Given the description of an element on the screen output the (x, y) to click on. 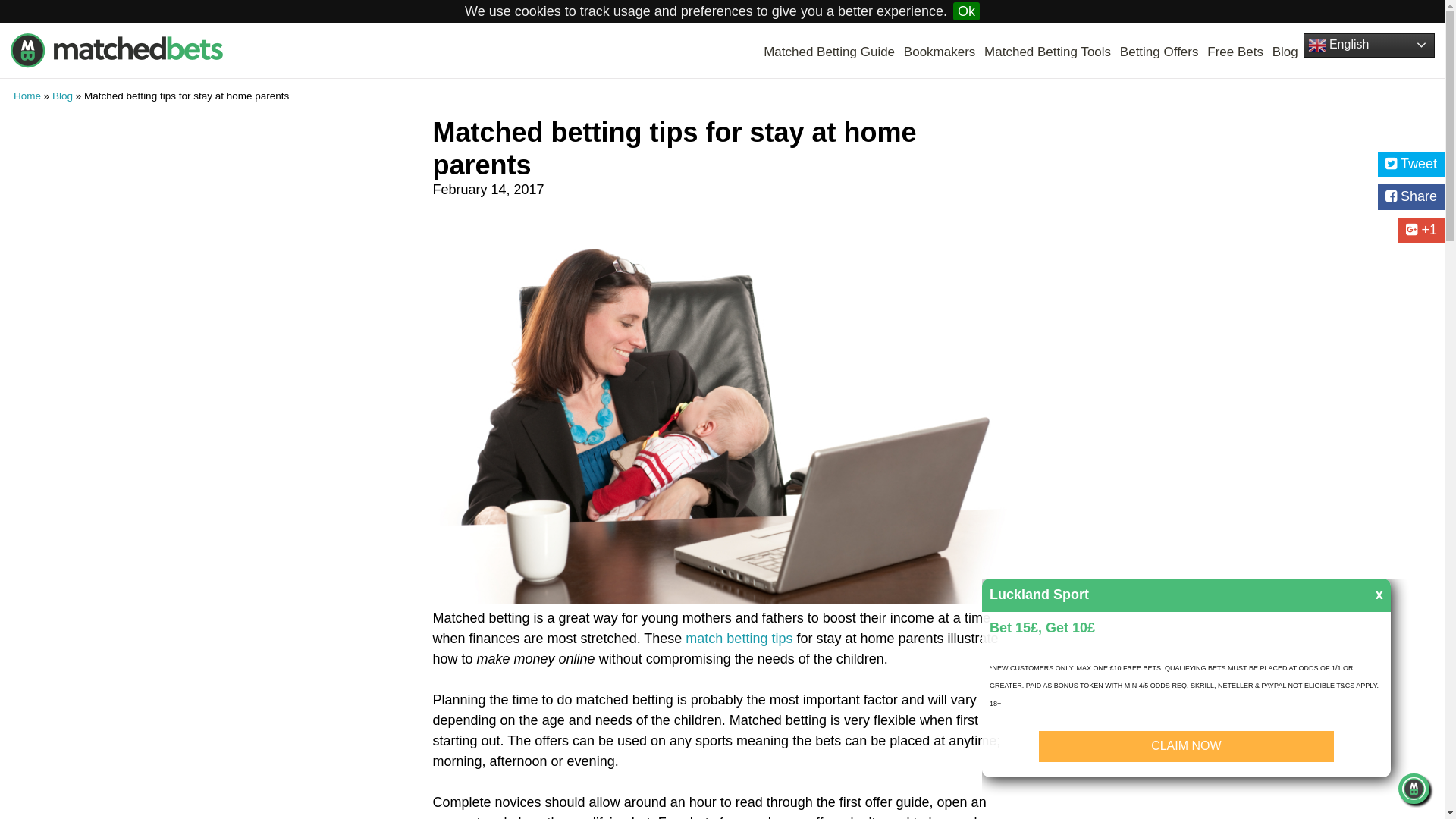
MatchedBets.com (116, 50)
Matched Betting Guide (828, 52)
Free Bets (1235, 52)
Ok (966, 11)
Bookmakers (939, 52)
Betting Offers (1158, 52)
Matched Betting Tools (1047, 52)
Home (26, 94)
Blog (1285, 52)
match betting tips (738, 638)
English (1368, 45)
Blog (62, 94)
